Given the description of an element on the screen output the (x, y) to click on. 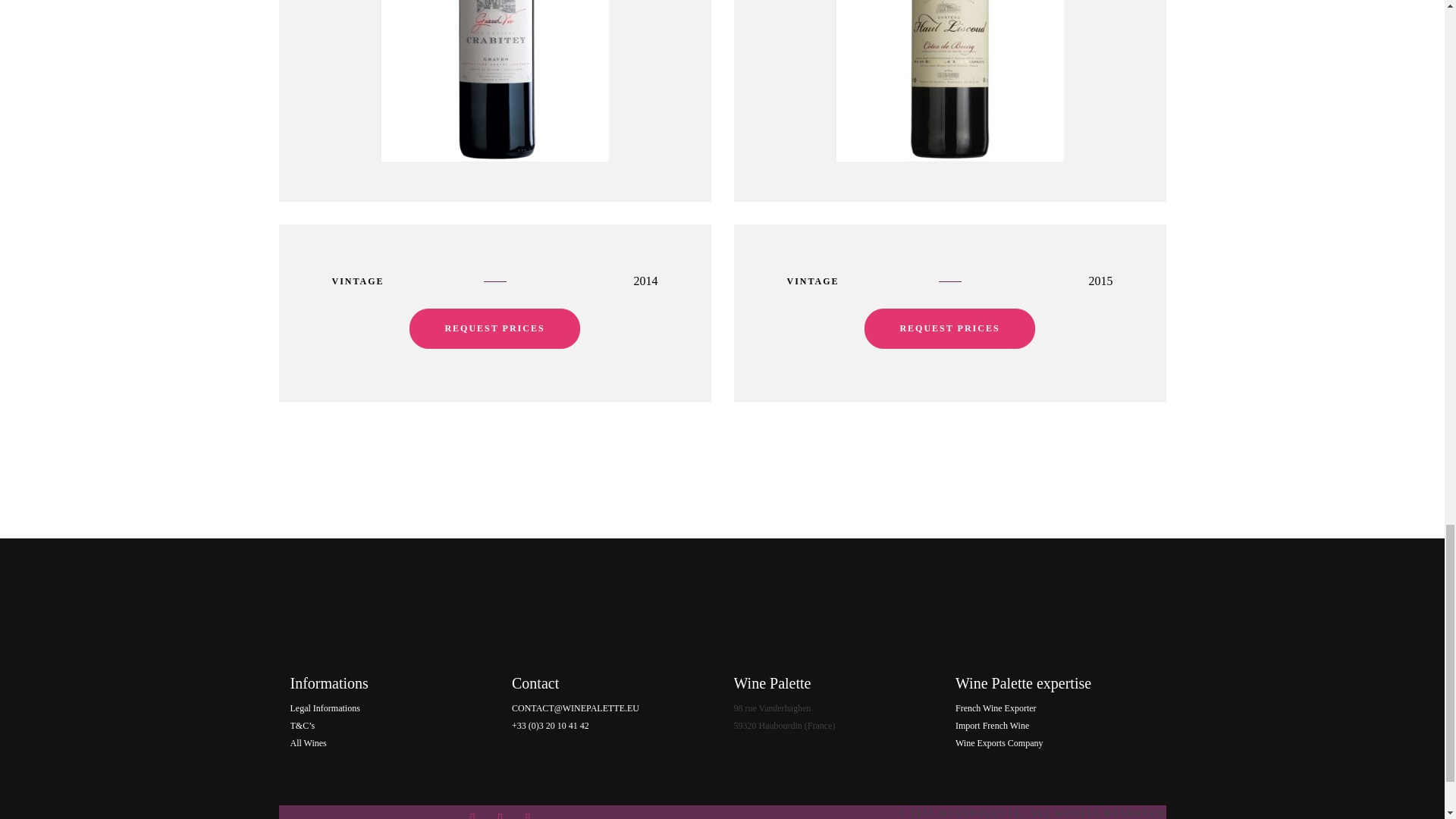
All Wines (307, 742)
French Wine Exporter (995, 707)
Import French Wine (992, 725)
Legal Informations (324, 707)
REQUEST PRICES (494, 328)
REQUEST PRICES (948, 328)
Wine Exports Company (999, 742)
